Given the description of an element on the screen output the (x, y) to click on. 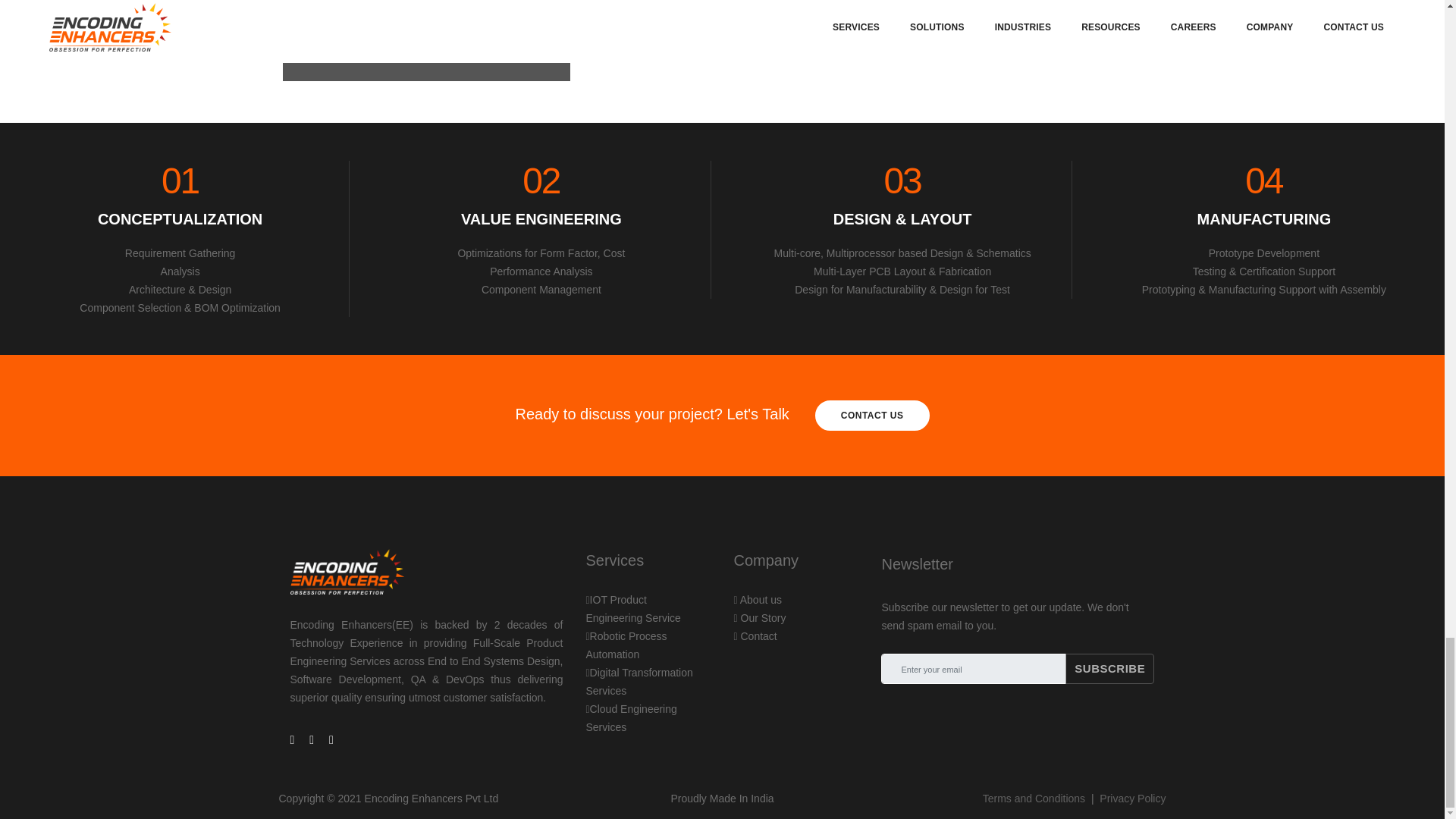
Digital Transformation Services (639, 681)
Cloud Engineering Services (631, 717)
About us (757, 599)
CONTACT US (632, 608)
Robotic Process Automation (872, 415)
